Given the description of an element on the screen output the (x, y) to click on. 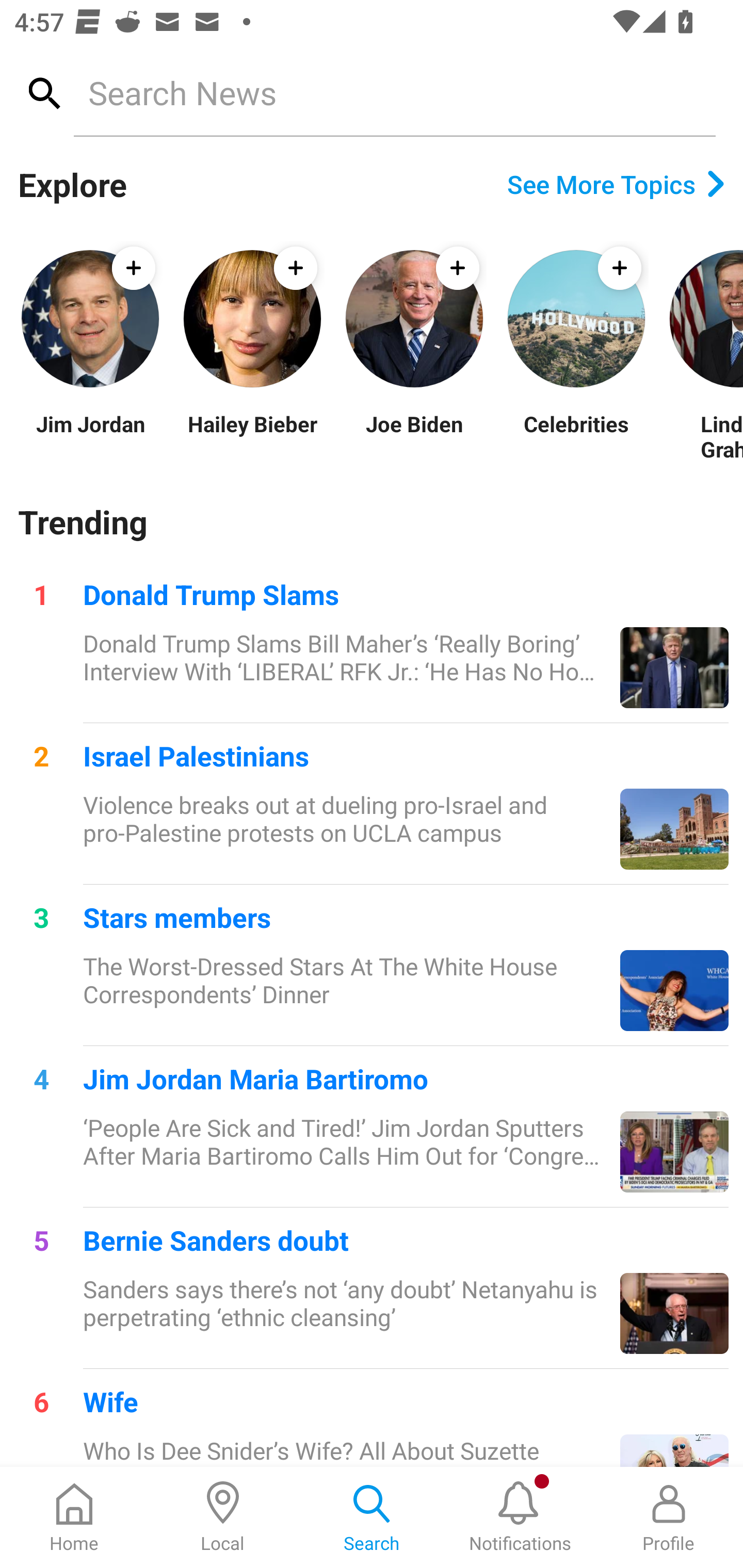
Search News (394, 92)
See More Topics (616, 183)
Jim Jordan (89, 436)
Hailey Bieber (251, 436)
Joe Biden (413, 436)
Celebrities (575, 436)
